Given the description of an element on the screen output the (x, y) to click on. 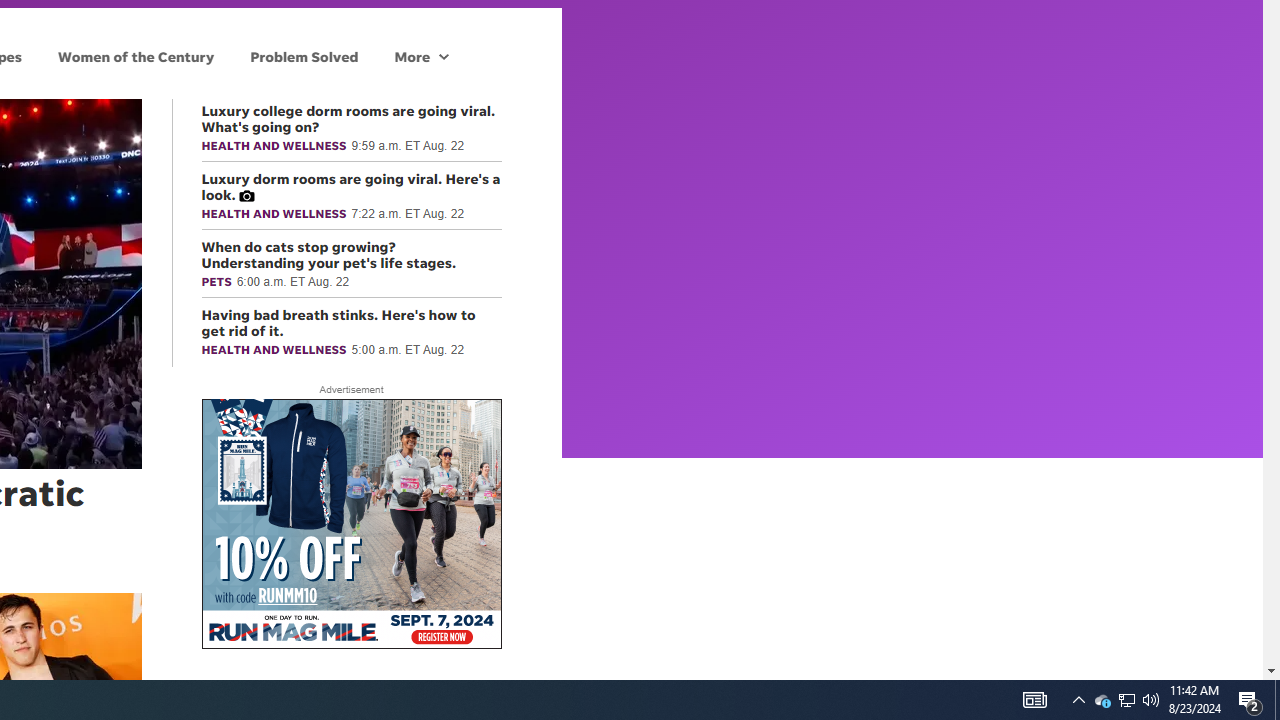
Problem Solved (304, 56)
Women of the Century (136, 56)
AutomationID: aw0 (350, 525)
Show desktop (1277, 699)
Q2790: 100% (1126, 699)
AutomationID: 4105 (1151, 699)
Notification Chevron (1102, 699)
Action Center, 2 new notifications (1034, 699)
More life navigation (1078, 699)
